Given the description of an element on the screen output the (x, y) to click on. 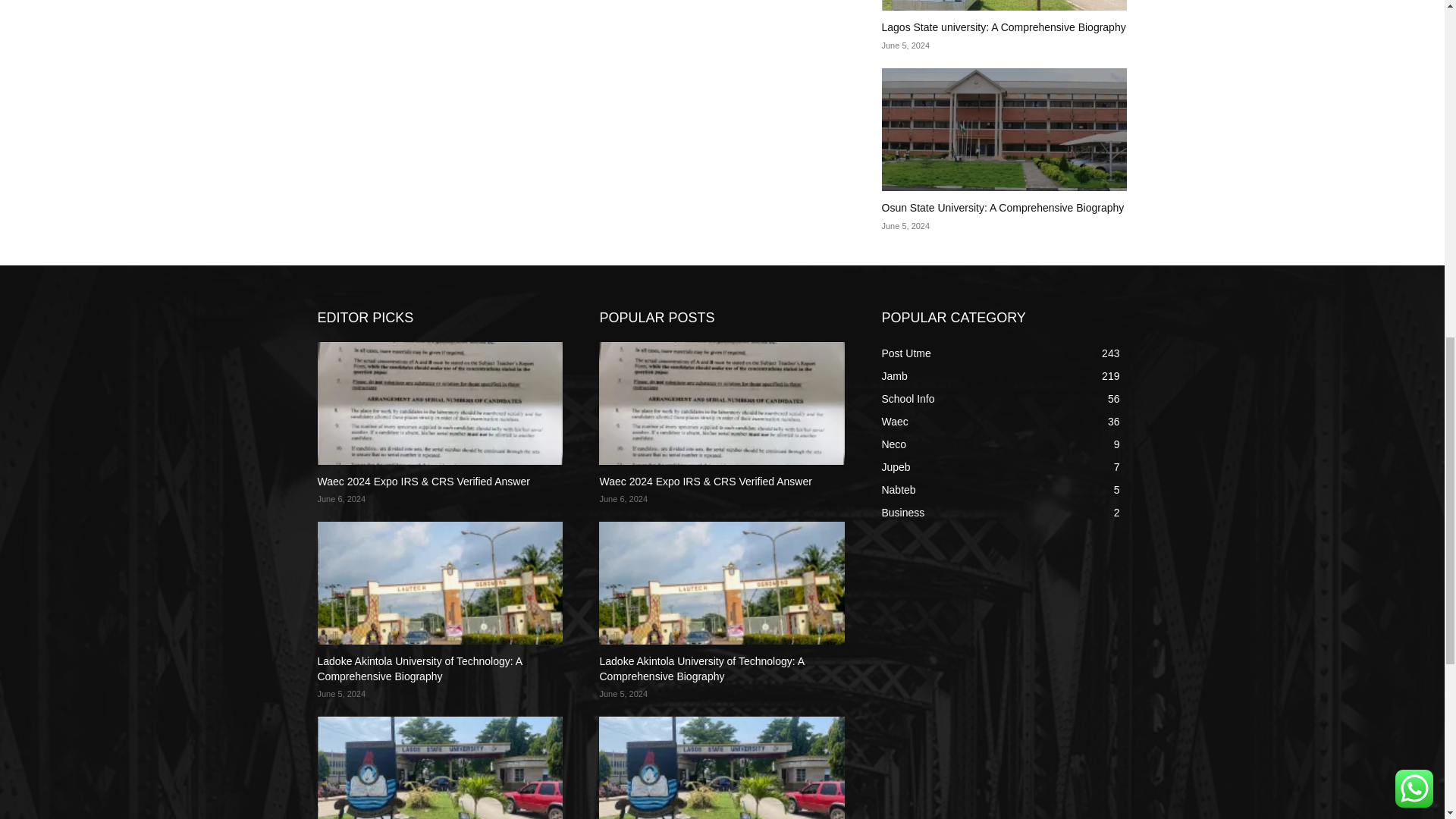
Lagos State university: A Comprehensive Biography (1002, 27)
